Given the description of an element on the screen output the (x, y) to click on. 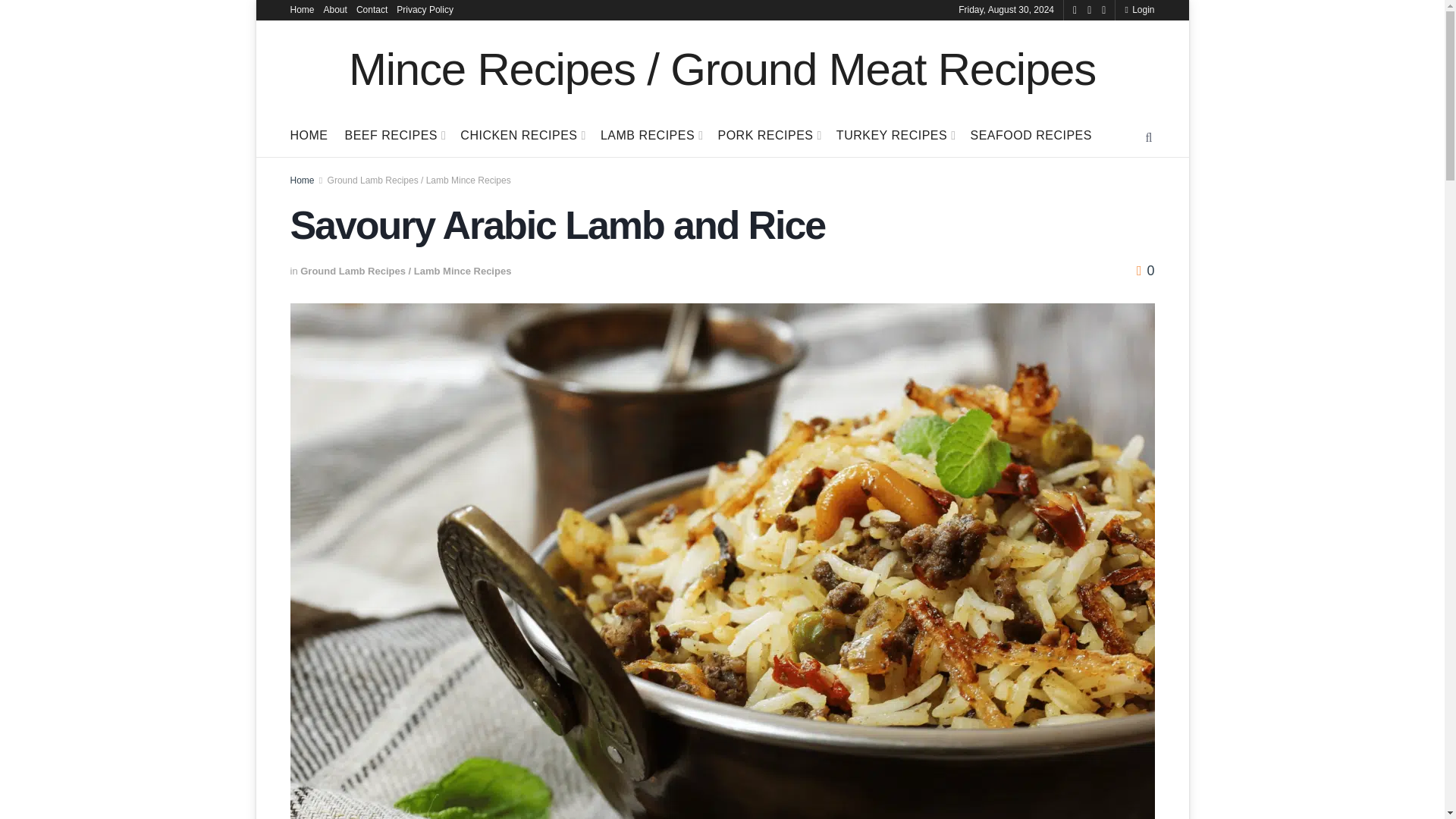
Contact (371, 10)
LAMB RECIPES (650, 135)
SEAFOOD RECIPES (1031, 135)
About (335, 10)
TURKEY RECIPES (894, 135)
CHICKEN RECIPES (521, 135)
HOME (308, 135)
Privacy Policy (424, 10)
Login (1139, 10)
